Given the description of an element on the screen output the (x, y) to click on. 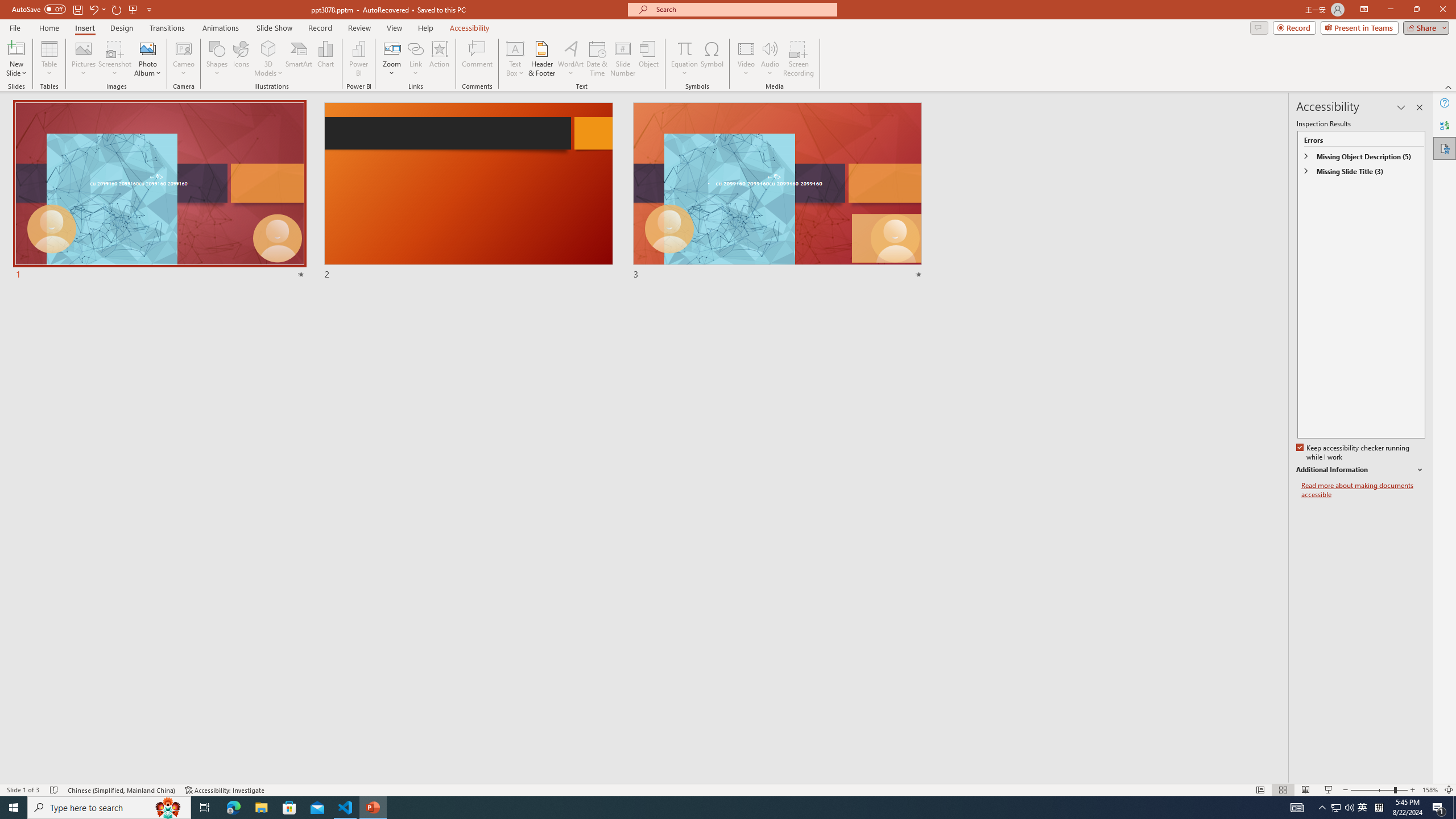
Equation (683, 58)
Screenshot (114, 58)
Equation (683, 48)
Audio (769, 58)
Additional Information (1360, 469)
3D Models (268, 48)
Link (415, 48)
New Photo Album... (147, 48)
